Given the description of an element on the screen output the (x, y) to click on. 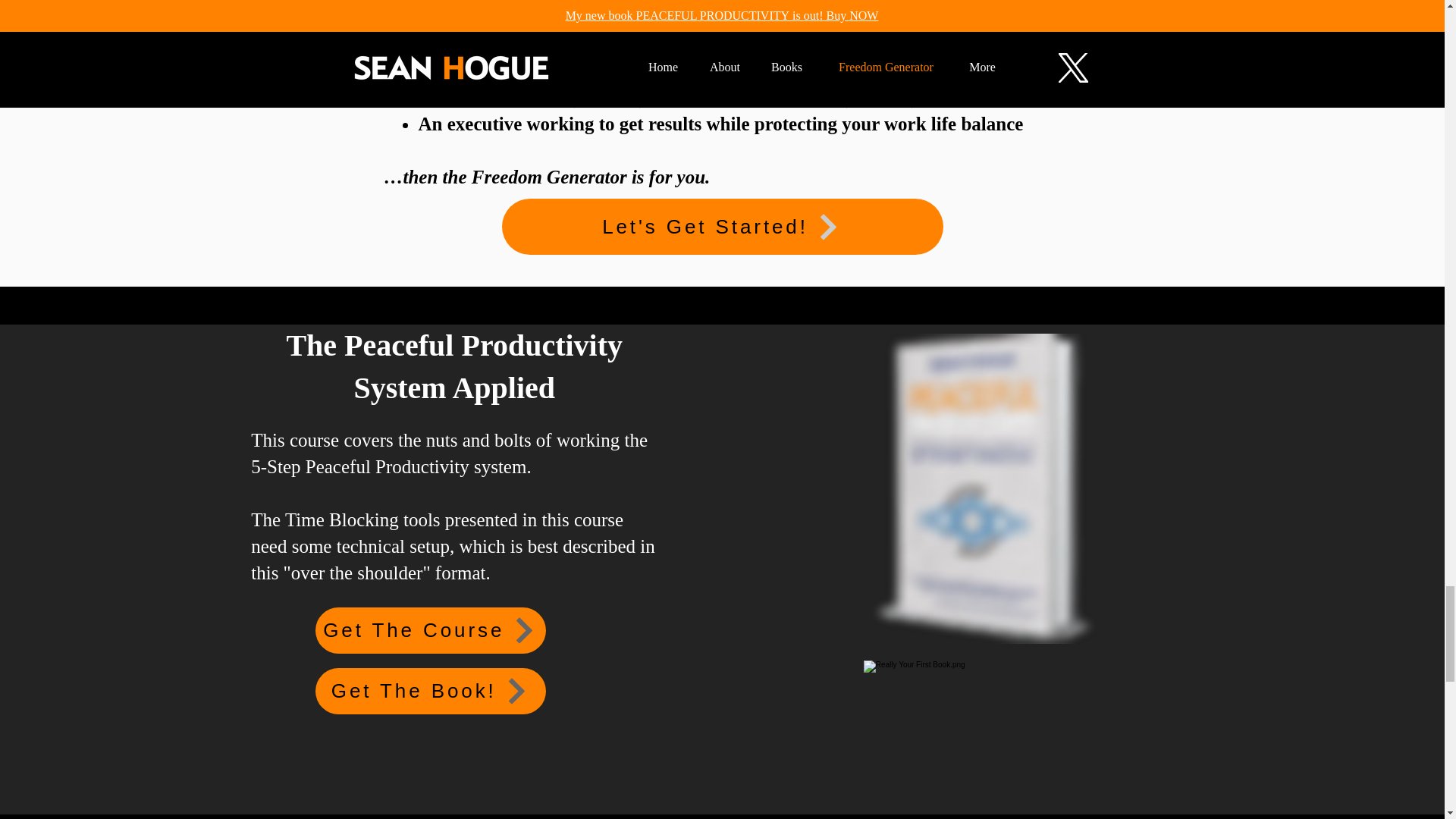
Get The Course (430, 630)
Get The Book! (430, 691)
Let's Get Started! (722, 226)
